Given the description of an element on the screen output the (x, y) to click on. 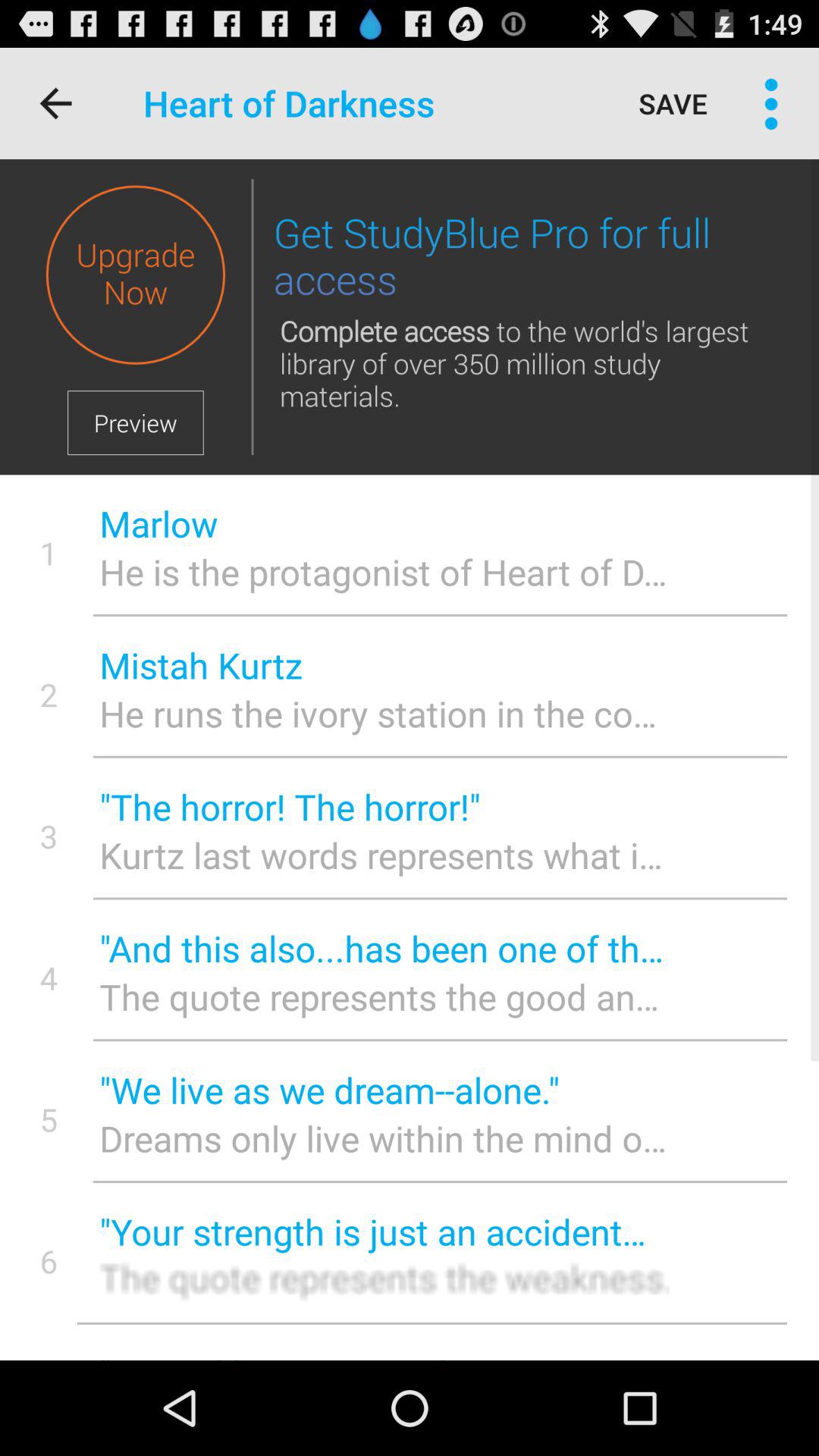
select the item next to the mistah kurtz icon (48, 694)
